Given the description of an element on the screen output the (x, y) to click on. 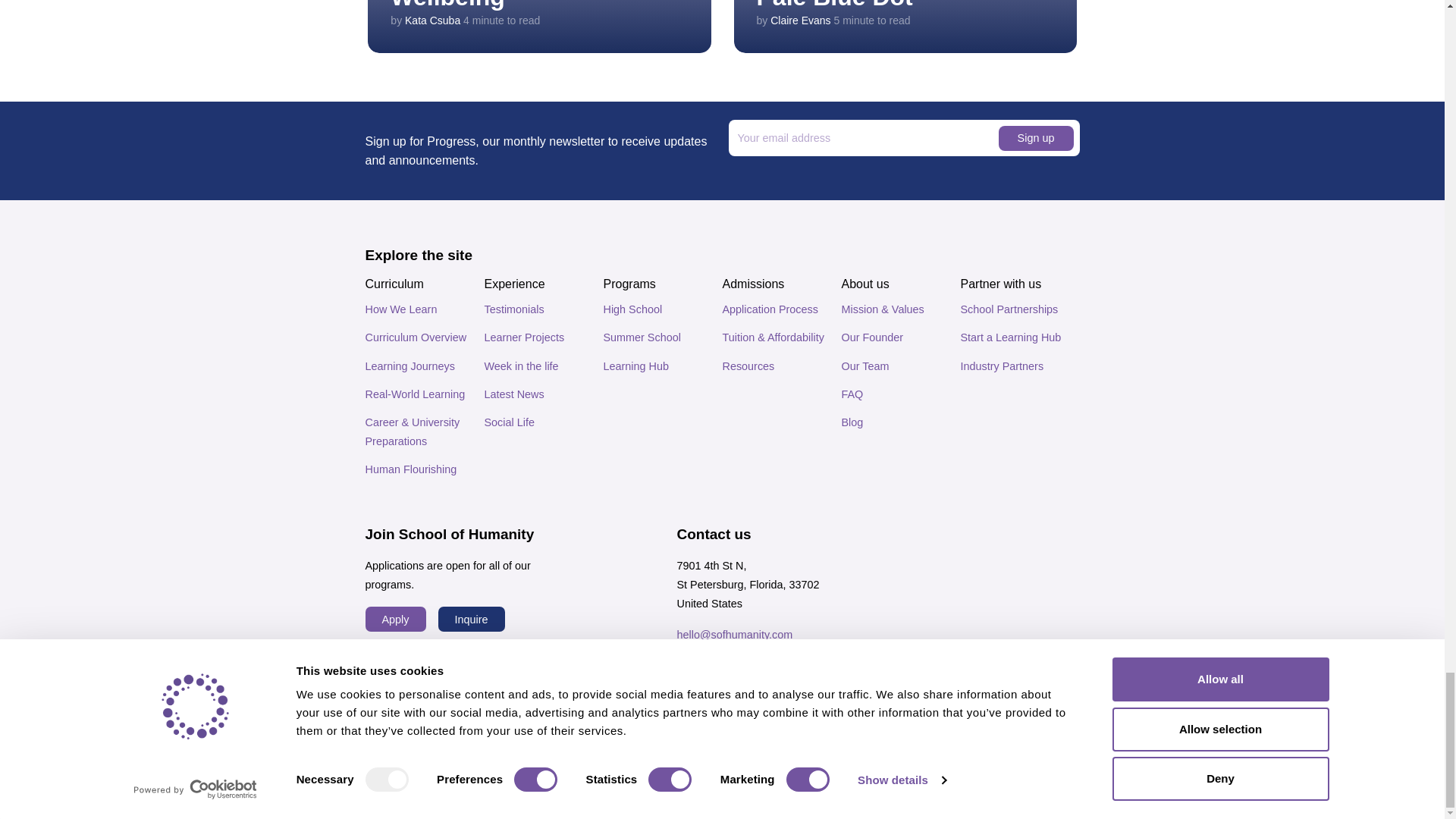
Sign up (1035, 138)
